Given the description of an element on the screen output the (x, y) to click on. 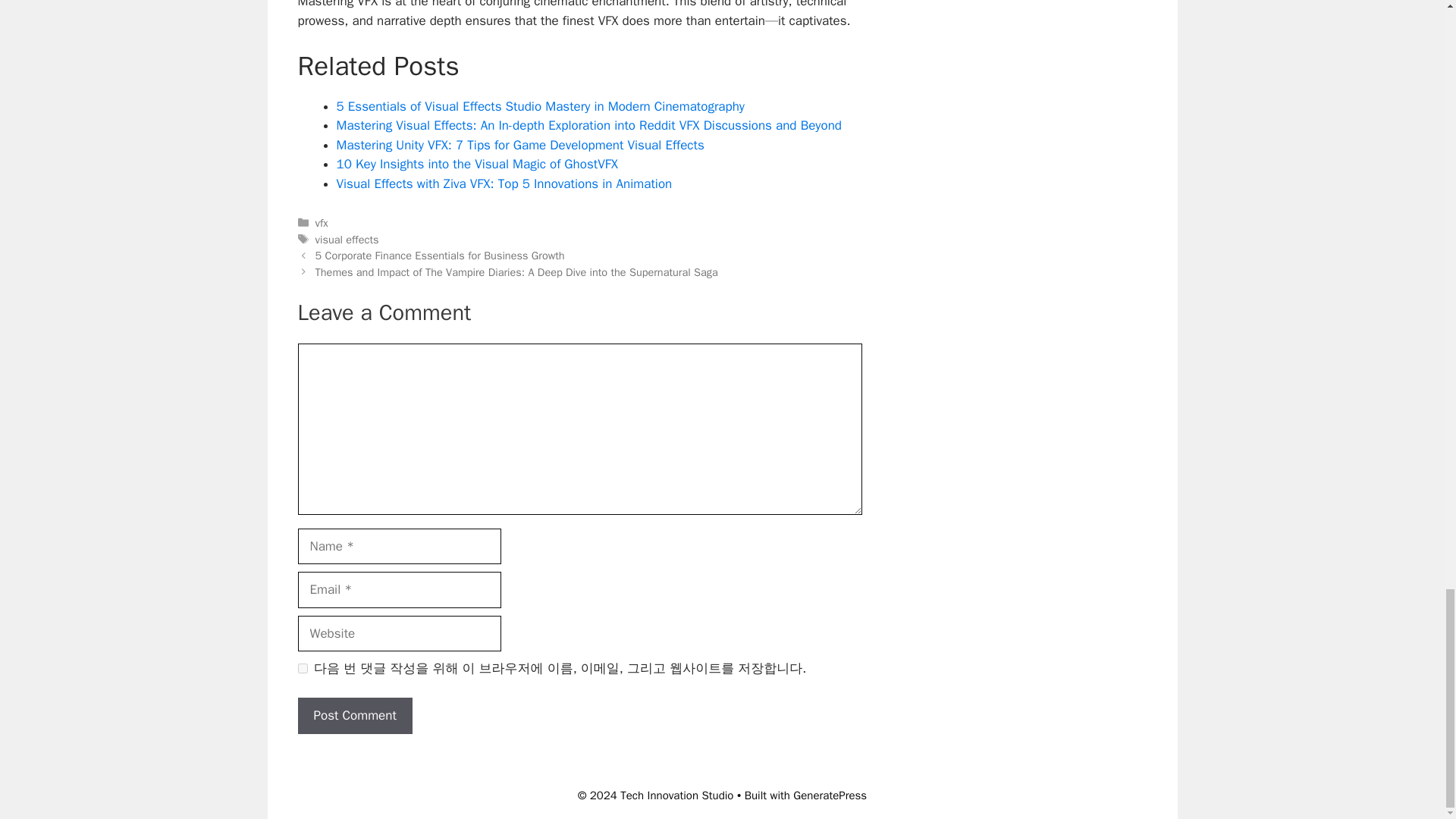
vfx (322, 223)
5 Corporate Finance Essentials for Business Growth (439, 255)
10 Key Insights into the Visual Magic of GhostVFX (476, 163)
Post Comment (354, 715)
Visual Effects with Ziva VFX: Top 5 Innovations in Animation (504, 183)
Post Comment (354, 715)
visual effects (346, 239)
yes (302, 668)
